Given the description of an element on the screen output the (x, y) to click on. 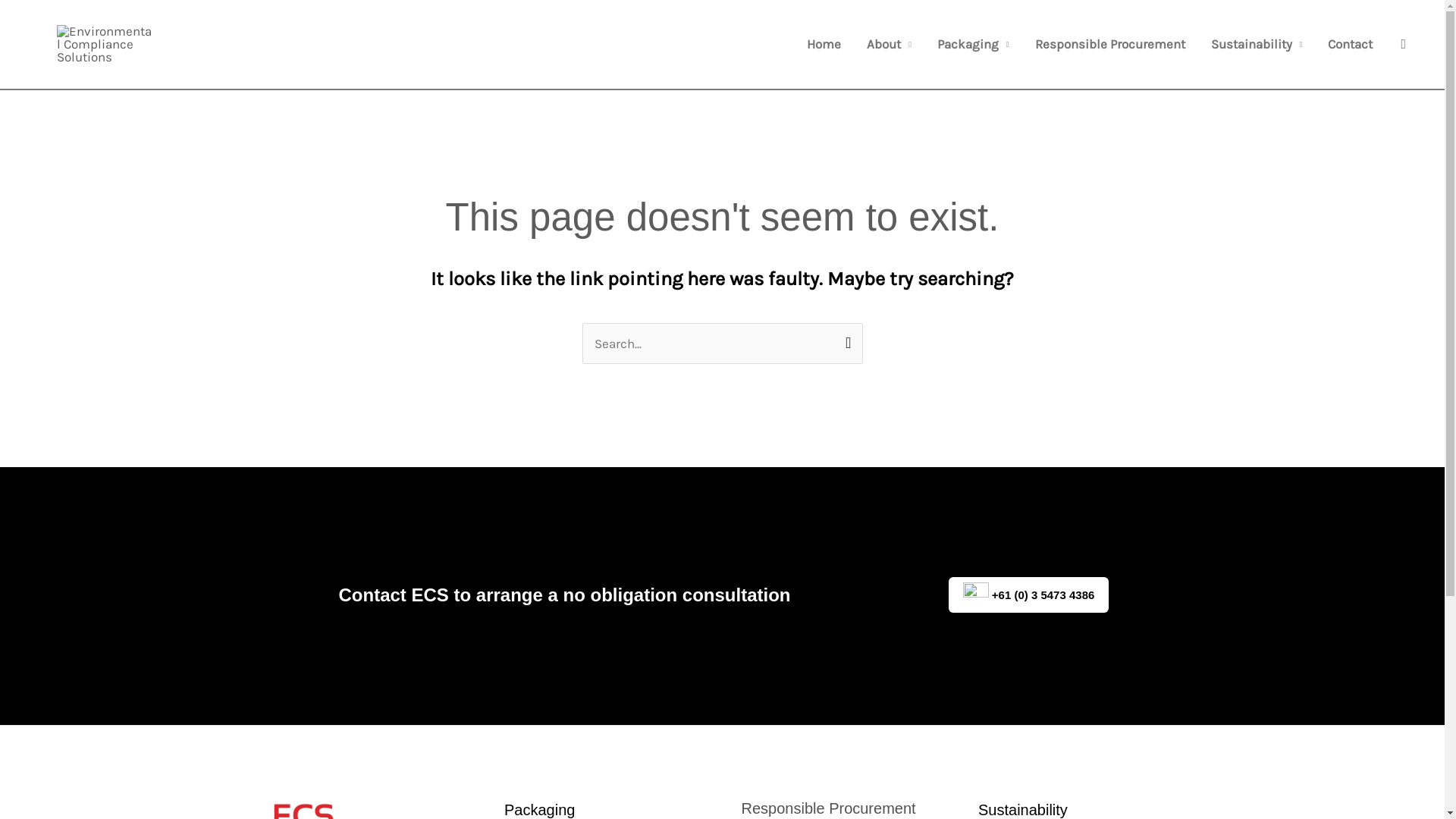
Home Element type: text (823, 43)
+61 (0) 3 5473 4386 Element type: text (1028, 594)
Packaging Element type: text (973, 43)
Responsible Procurement Element type: text (1110, 43)
Sustainability Element type: text (1256, 43)
Contact Element type: text (1349, 43)
Search Element type: text (1402, 44)
About Element type: text (888, 43)
Search Element type: text (845, 338)
Responsible Procurement Element type: text (828, 808)
